Given the description of an element on the screen output the (x, y) to click on. 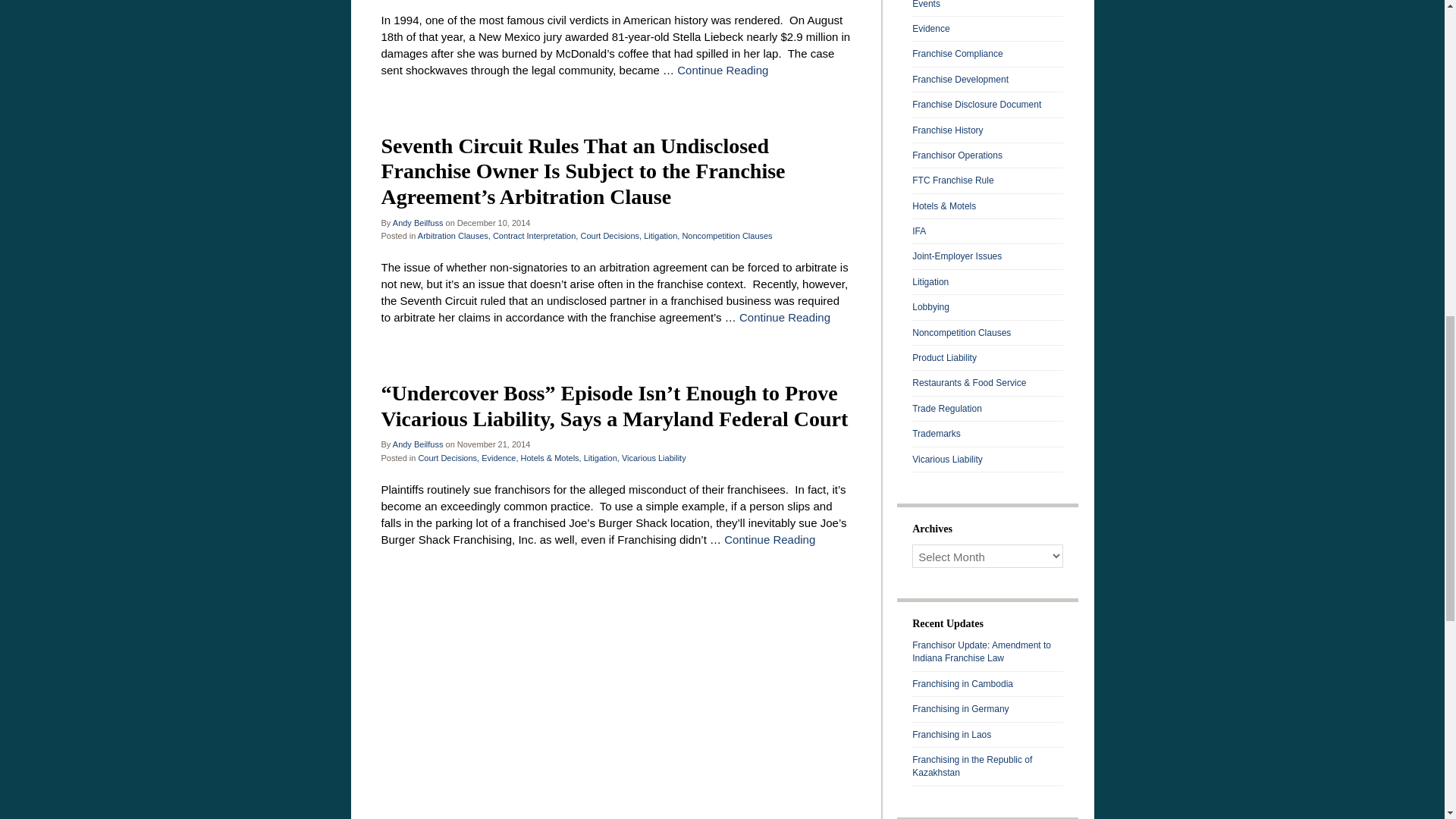
Arbitration Clauses, (453, 235)
Evidence, (499, 457)
Continue Reading (722, 69)
Continue Reading (784, 317)
Continue Reading (769, 539)
Andy Beilfuss (418, 443)
Court Decisions, (610, 235)
Andy Beilfuss (418, 222)
Litigation, (601, 457)
Contract Interpretation, (535, 235)
Vicarious Liability (653, 457)
Court Decisions, (448, 457)
Noncompetition Clauses (726, 235)
Litigation, (661, 235)
